Given the description of an element on the screen output the (x, y) to click on. 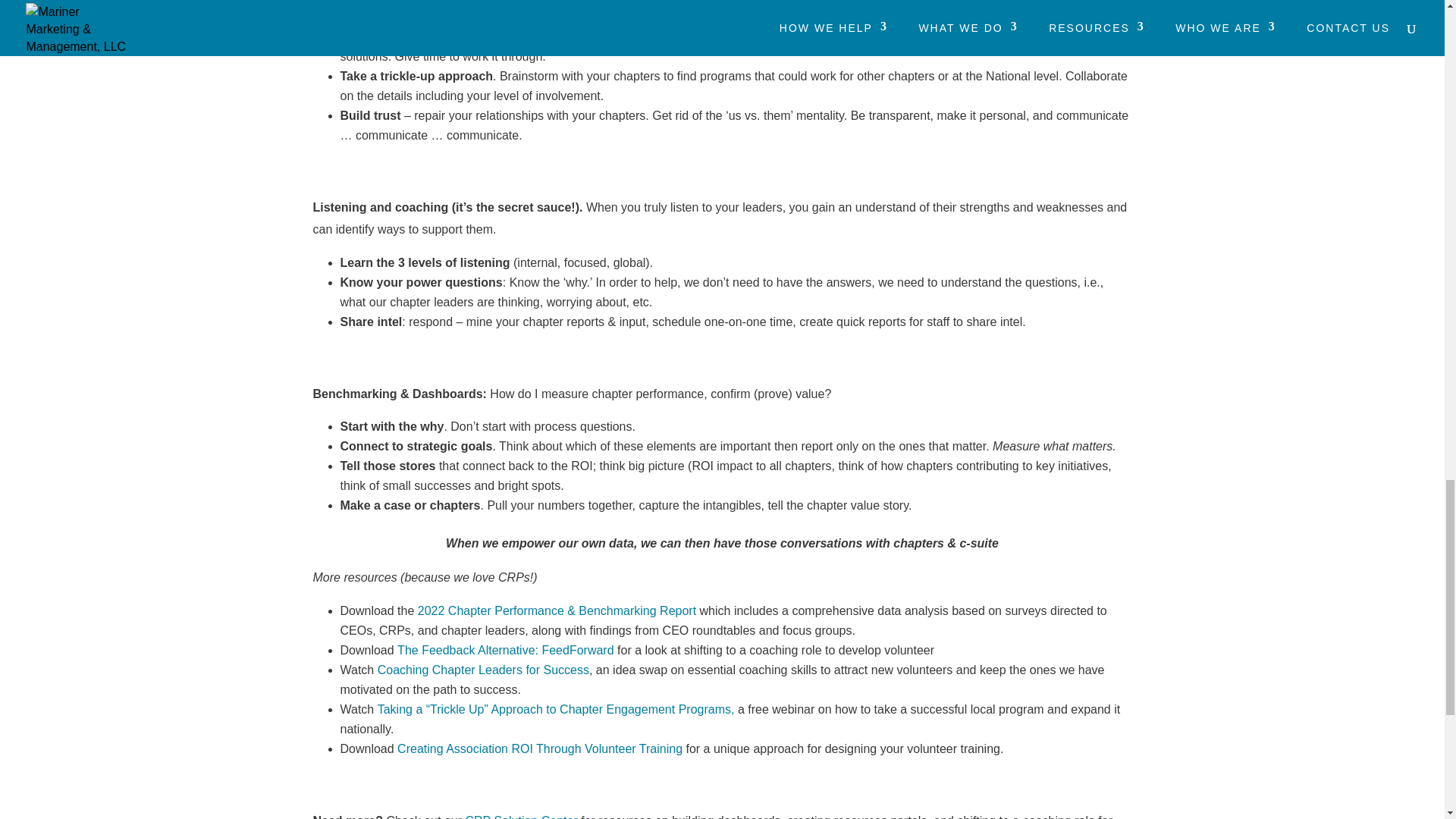
Coaching Chapter Leaders for Success (483, 669)
Creating Association ROI Through Volunteer Training (539, 748)
FeedForward (576, 649)
CRP Solution Center (520, 816)
The Feedback Alternative: (469, 649)
